Given the description of an element on the screen output the (x, y) to click on. 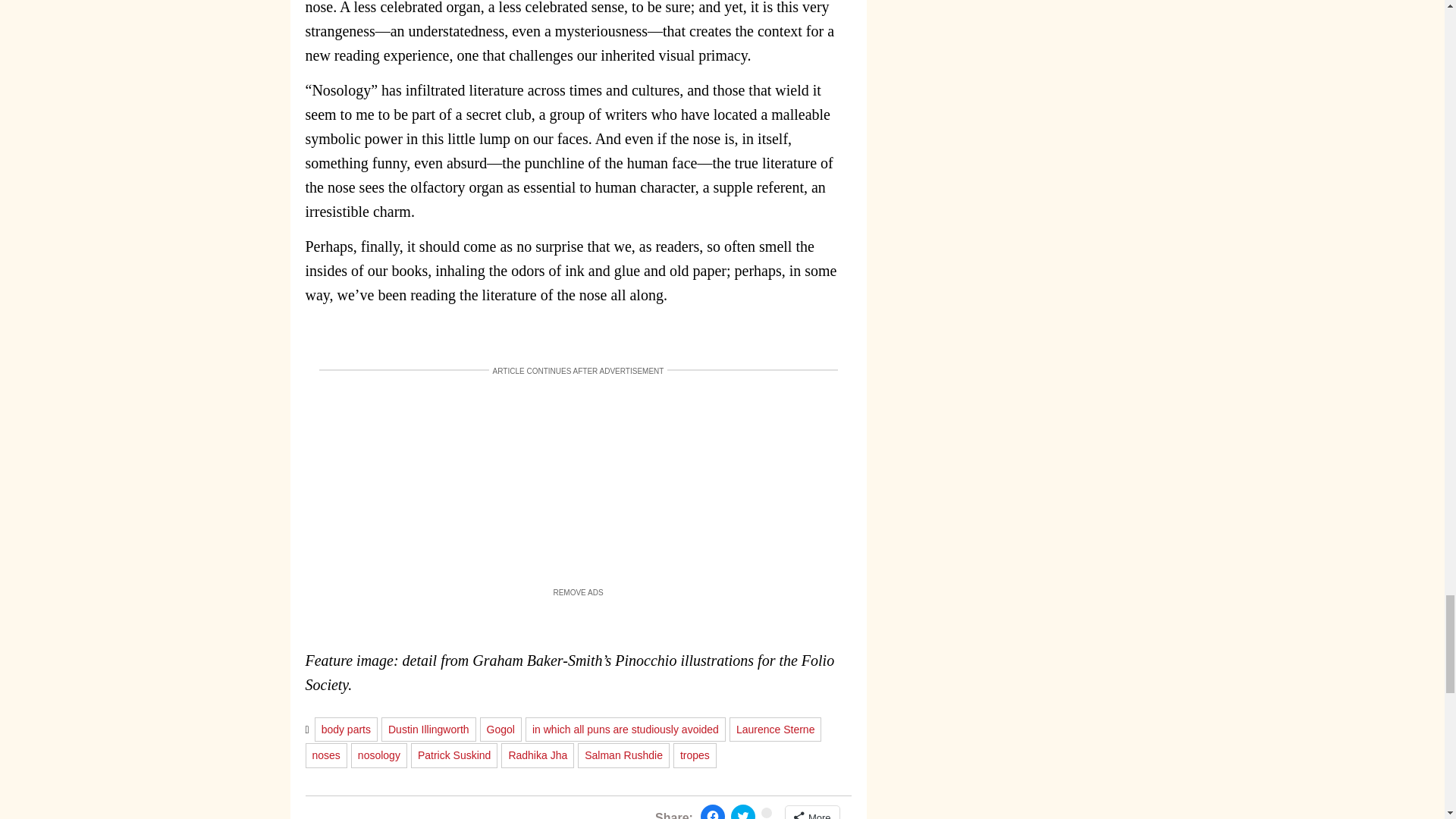
Share on Facebook (712, 811)
Click to share on Twitter (742, 811)
